Given the description of an element on the screen output the (x, y) to click on. 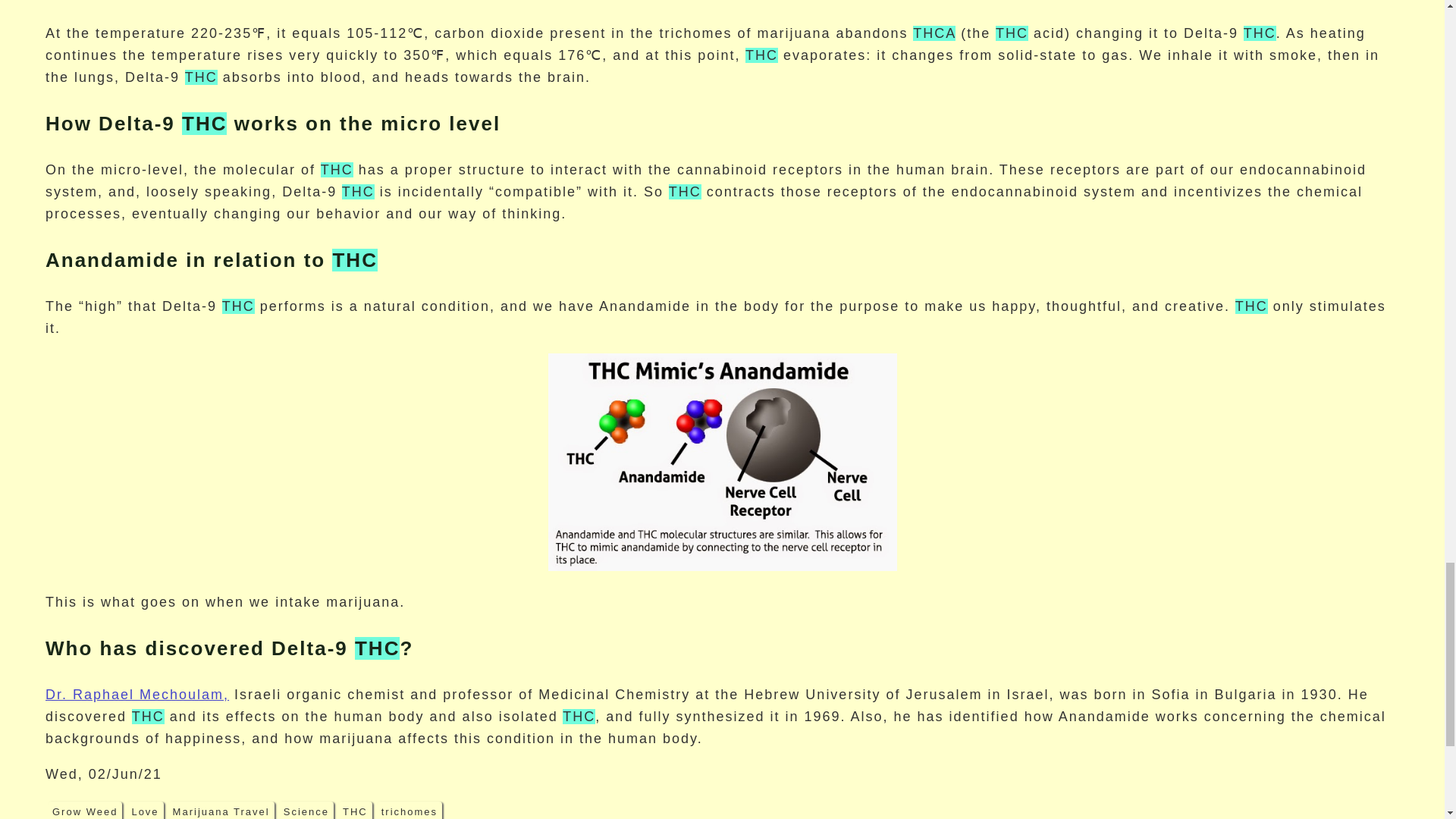
Grow Weed (85, 810)
Marijuana Travel (221, 810)
THC (354, 810)
Dr. Raphael Mechoulam, (136, 694)
trichomes (409, 810)
Science (306, 810)
Love (144, 810)
